Given the description of an element on the screen output the (x, y) to click on. 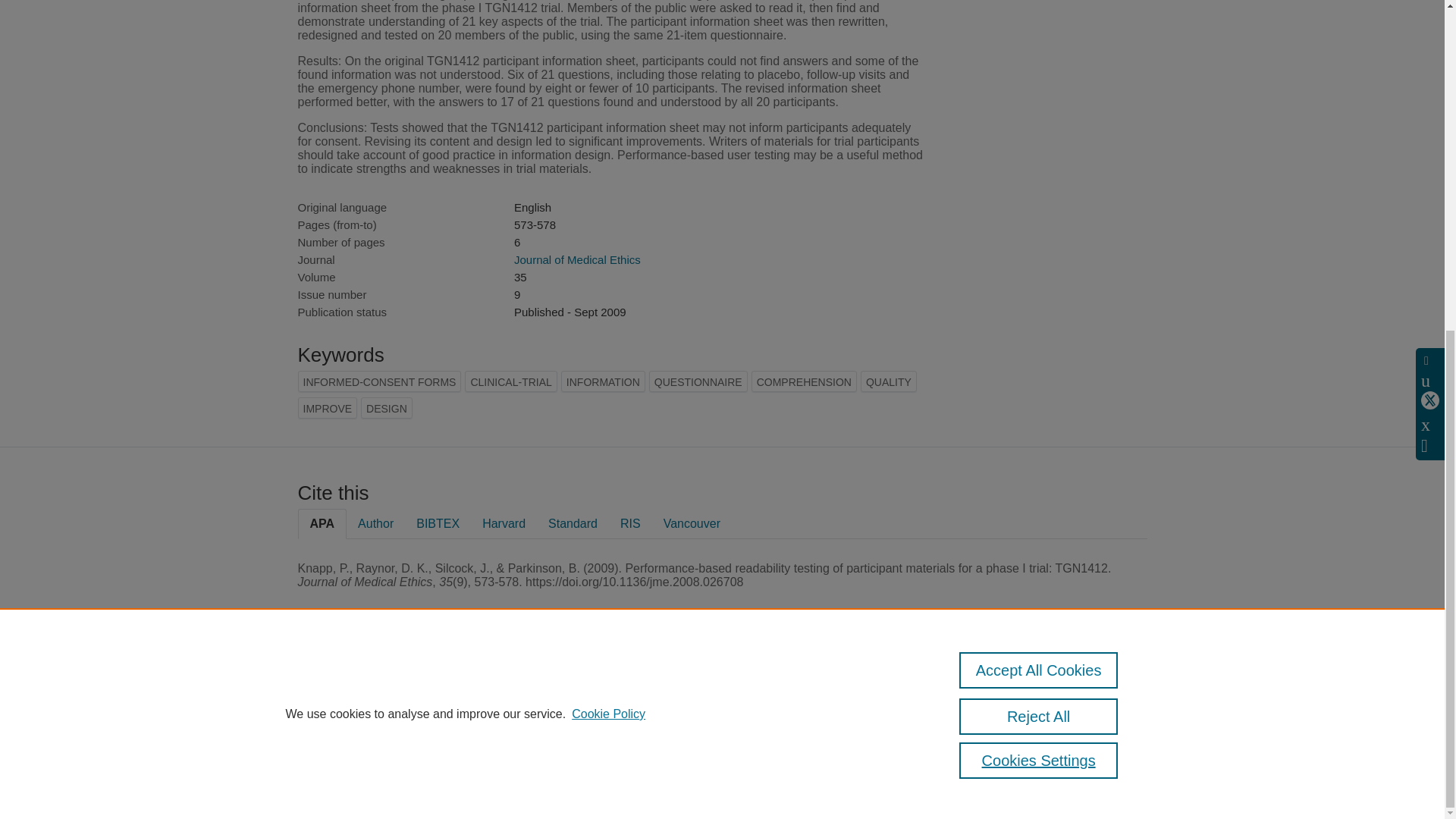
Contact us (1123, 693)
About web accessibility (995, 719)
Cookies Settings (334, 761)
Cookie Policy (608, 164)
Log in to Pure (327, 781)
Scopus (394, 687)
Journal of Medical Ethics (576, 259)
York Research Database data protection policy (1009, 693)
Report vulnerability (986, 740)
Elsevier B.V. (506, 708)
use of cookies (796, 740)
Cookies Settings (1038, 212)
Pure (362, 687)
